Given the description of an element on the screen output the (x, y) to click on. 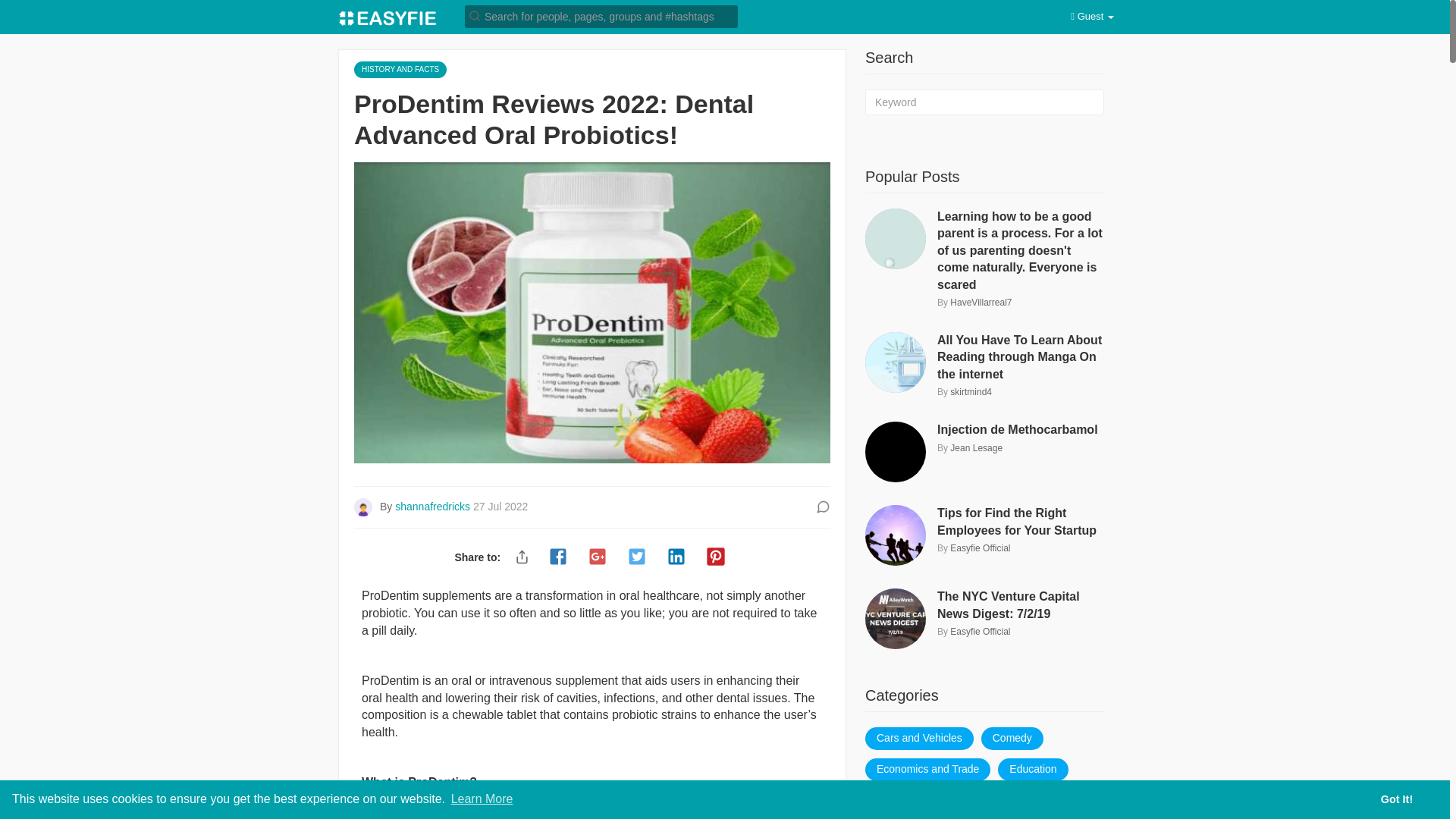
Learn More (481, 798)
Guest (1091, 17)
shannafredricks (433, 506)
HISTORY AND FACTS (399, 68)
